Given the description of an element on the screen output the (x, y) to click on. 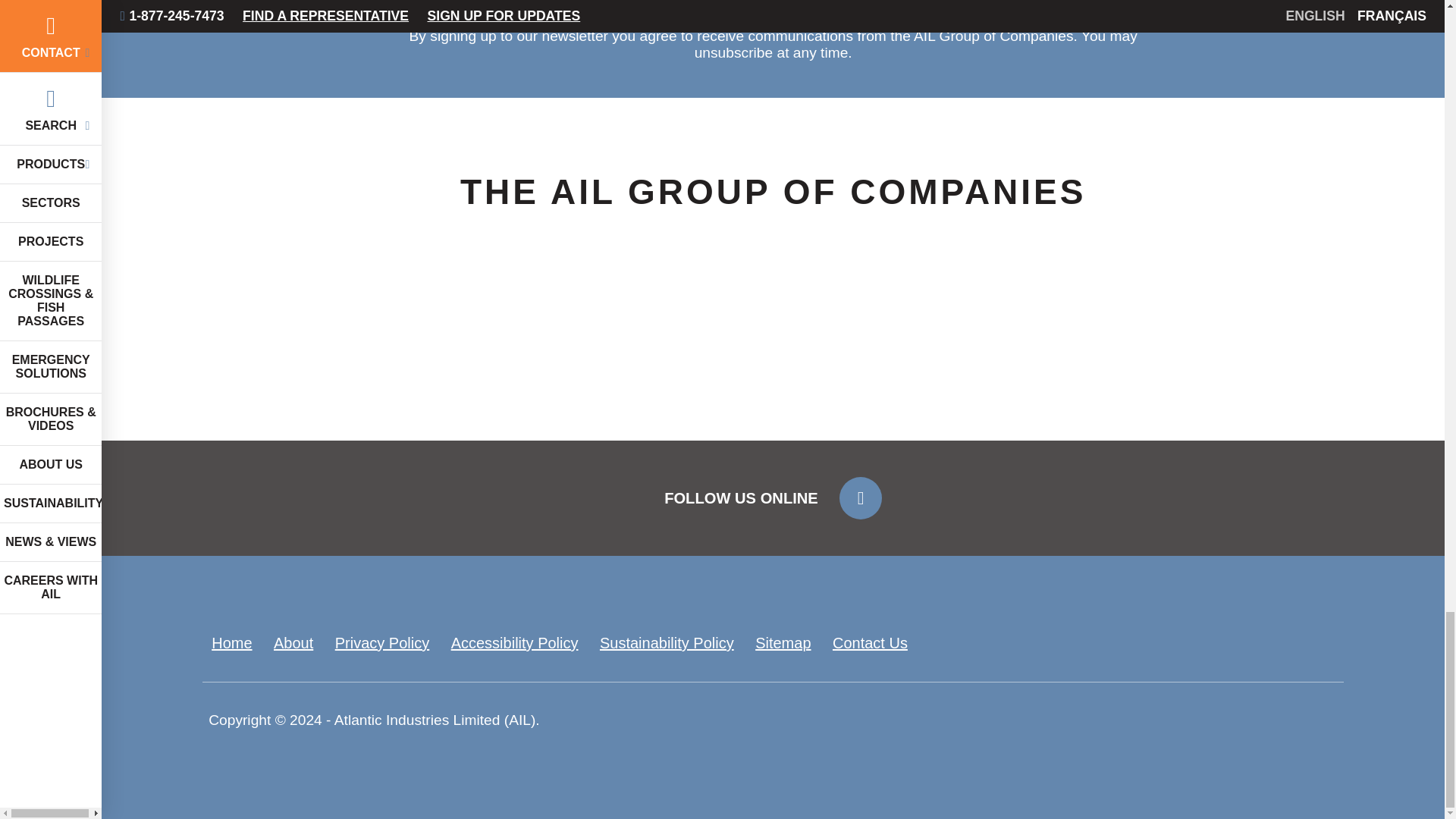
AIL Soundwalls (1013, 359)
AIL International (784, 359)
AIL Mining (1241, 359)
AIL (328, 359)
Algonquin Bridge (556, 359)
